Given the description of an element on the screen output the (x, y) to click on. 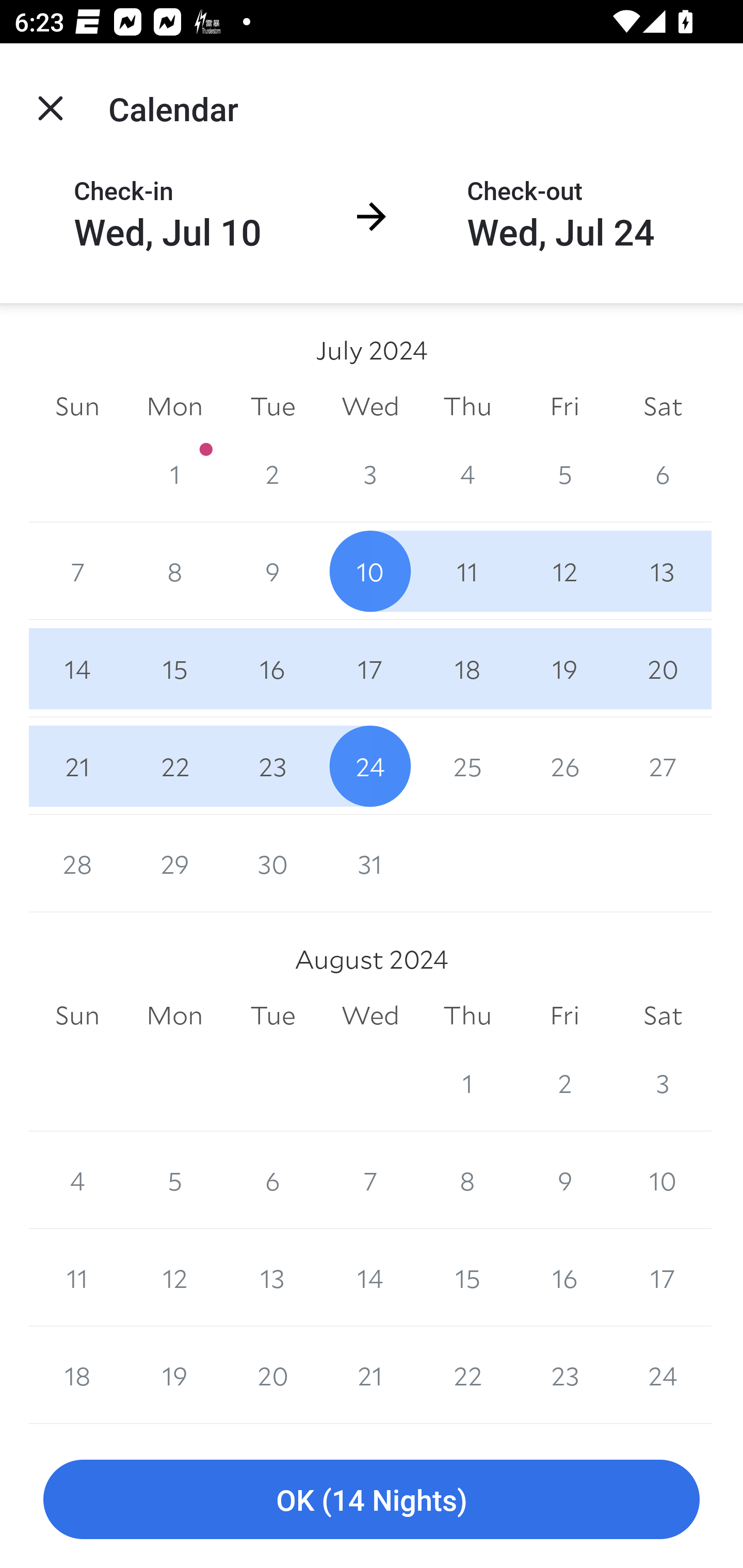
Sun (77, 405)
Mon (174, 405)
Tue (272, 405)
Wed (370, 405)
Thu (467, 405)
Fri (564, 405)
Sat (662, 405)
1 1 July 2024 (174, 473)
2 2 July 2024 (272, 473)
3 3 July 2024 (370, 473)
4 4 July 2024 (467, 473)
5 5 July 2024 (564, 473)
6 6 July 2024 (662, 473)
7 7 July 2024 (77, 570)
8 8 July 2024 (174, 570)
9 9 July 2024 (272, 570)
10 10 July 2024 (370, 570)
11 11 July 2024 (467, 570)
12 12 July 2024 (564, 570)
13 13 July 2024 (662, 570)
14 14 July 2024 (77, 668)
15 15 July 2024 (174, 668)
16 16 July 2024 (272, 668)
17 17 July 2024 (370, 668)
18 18 July 2024 (467, 668)
19 19 July 2024 (564, 668)
20 20 July 2024 (662, 668)
21 21 July 2024 (77, 766)
22 22 July 2024 (174, 766)
23 23 July 2024 (272, 766)
24 24 July 2024 (370, 766)
25 25 July 2024 (467, 766)
26 26 July 2024 (564, 766)
27 27 July 2024 (662, 766)
28 28 July 2024 (77, 863)
29 29 July 2024 (174, 863)
30 30 July 2024 (272, 863)
31 31 July 2024 (370, 863)
Sun (77, 1015)
Mon (174, 1015)
Tue (272, 1015)
Wed (370, 1015)
Thu (467, 1015)
Fri (564, 1015)
Sat (662, 1015)
1 1 August 2024 (467, 1083)
2 2 August 2024 (564, 1083)
3 3 August 2024 (662, 1083)
4 4 August 2024 (77, 1180)
5 5 August 2024 (174, 1180)
6 6 August 2024 (272, 1180)
7 7 August 2024 (370, 1180)
8 8 August 2024 (467, 1180)
9 9 August 2024 (564, 1180)
10 10 August 2024 (662, 1180)
11 11 August 2024 (77, 1277)
12 12 August 2024 (174, 1277)
13 13 August 2024 (272, 1277)
14 14 August 2024 (370, 1277)
15 15 August 2024 (467, 1277)
16 16 August 2024 (564, 1277)
17 17 August 2024 (662, 1277)
18 18 August 2024 (77, 1374)
19 19 August 2024 (174, 1374)
20 20 August 2024 (272, 1374)
21 21 August 2024 (370, 1374)
22 22 August 2024 (467, 1374)
23 23 August 2024 (564, 1374)
24 24 August 2024 (662, 1374)
OK (14 Nights) (371, 1499)
